Given the description of an element on the screen output the (x, y) to click on. 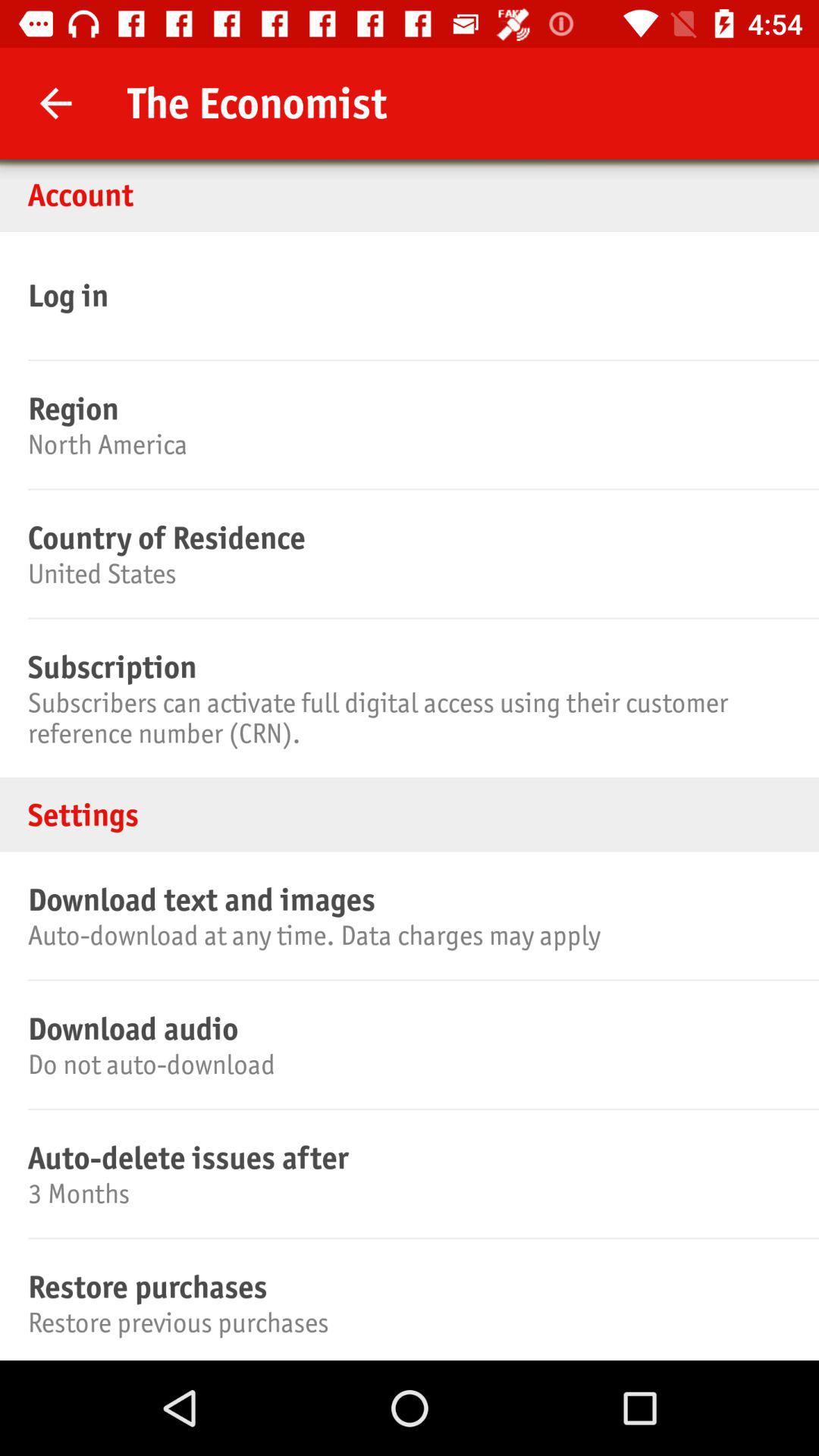
tap the icon above the do not auto icon (407, 1028)
